Given the description of an element on the screen output the (x, y) to click on. 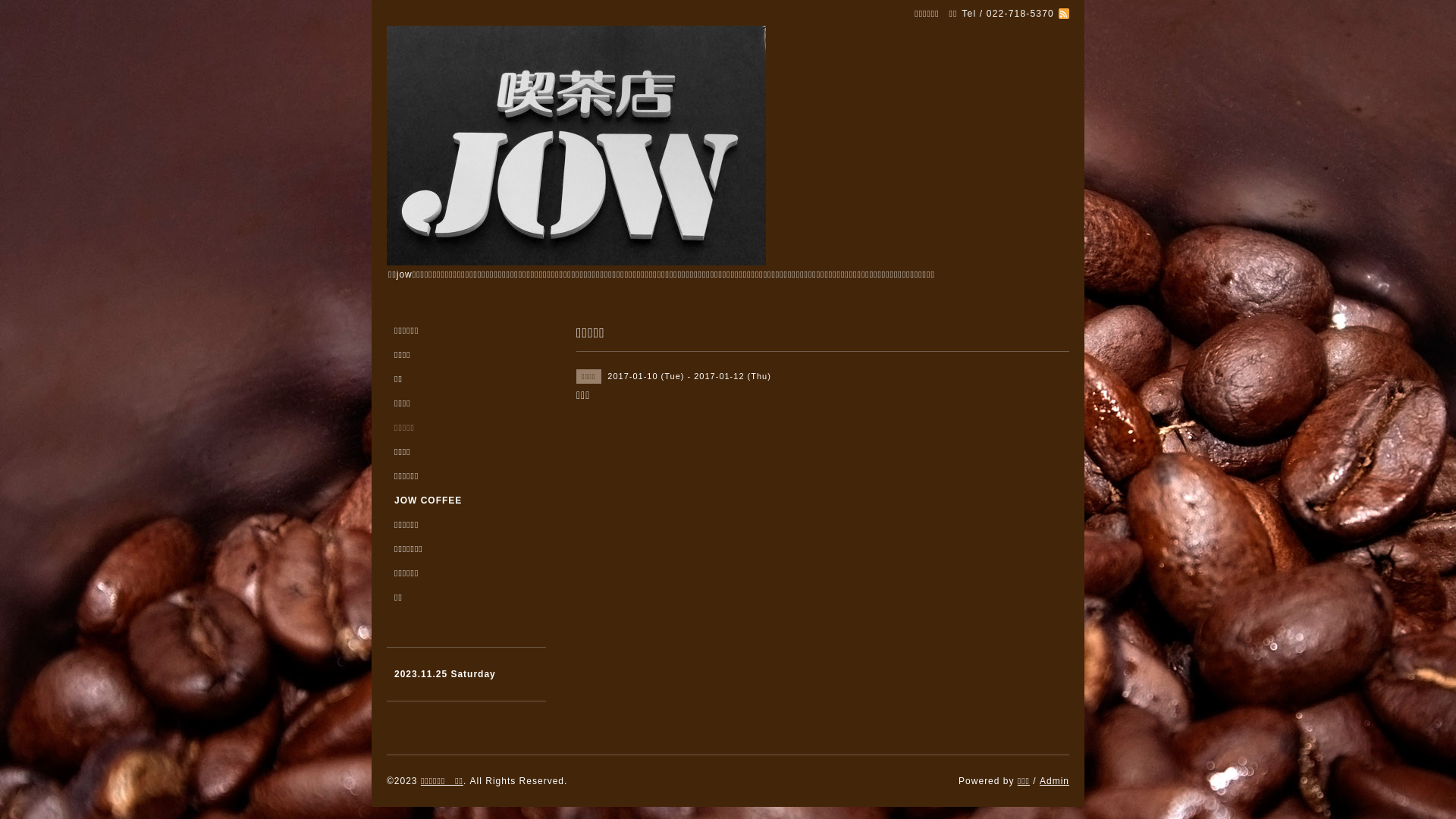
Admin Element type: text (1054, 780)
JOW COFFEE Element type: text (466, 507)
